Given the description of an element on the screen output the (x, y) to click on. 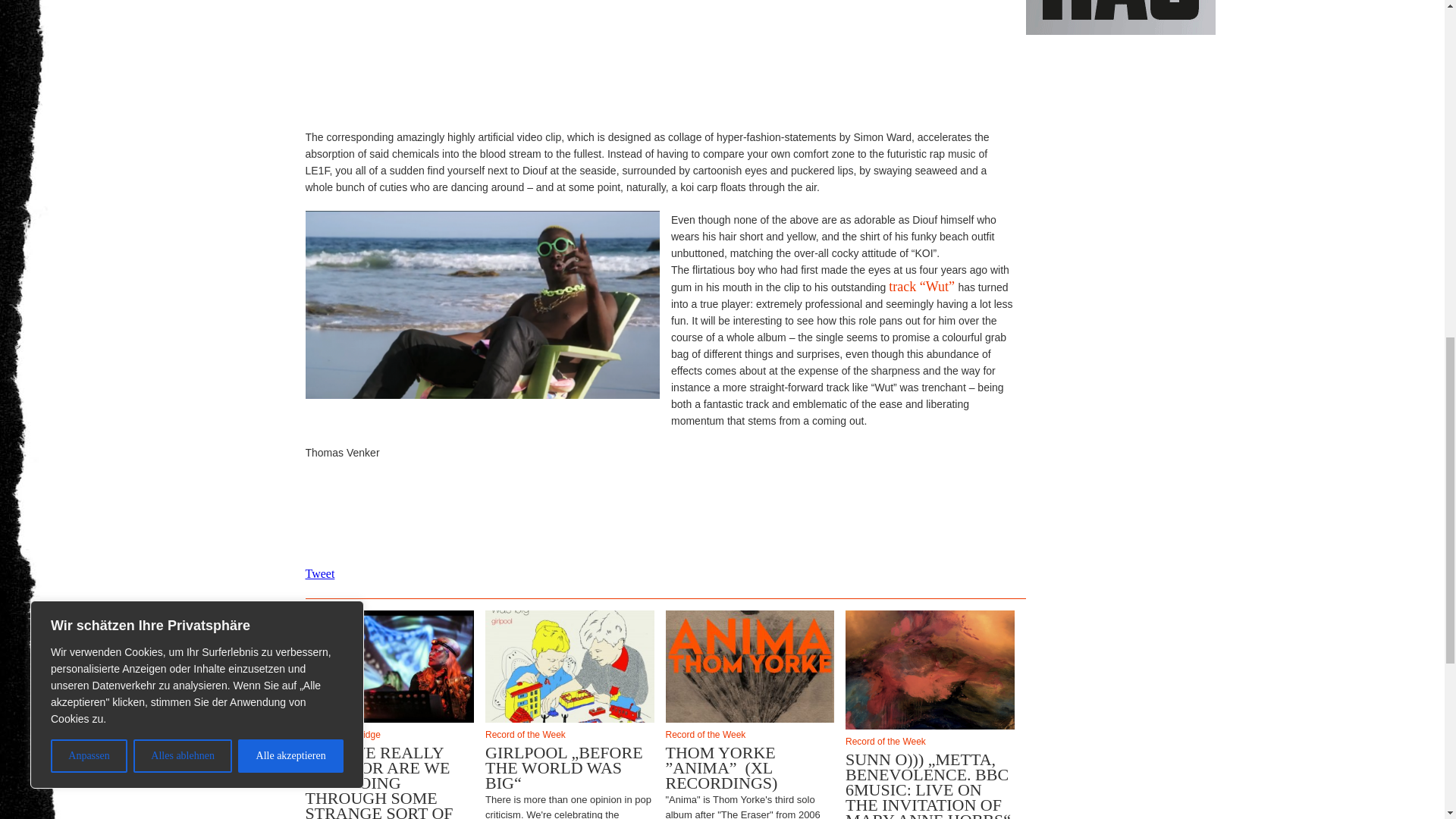
Genesis P-Orridge (389, 734)
Skyscraper (1119, 17)
Tweet (319, 573)
